Given the description of an element on the screen output the (x, y) to click on. 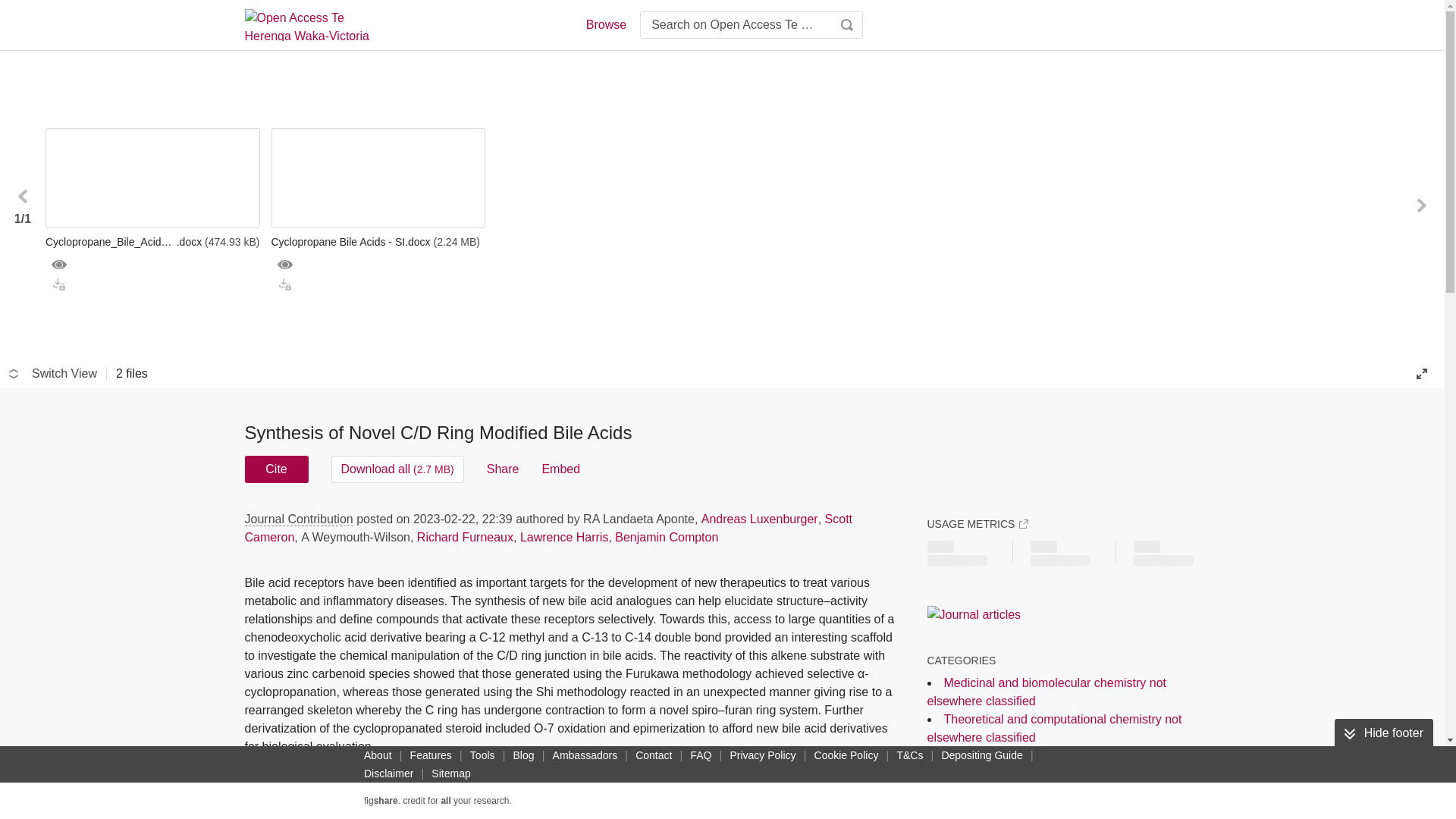
Organic chemistry not elsewhere classified (1058, 755)
Embed (560, 469)
Cyclopropane Bile Acids - SI.docx (378, 241)
Lawrence Harris (563, 536)
Scott Cameron (547, 527)
USAGE METRICS (976, 523)
Richard Furneaux (464, 536)
Switch View (52, 373)
Share (502, 469)
Cite (275, 469)
Benjamin Compton (665, 536)
Andreas Luxenburger (759, 518)
Browse (605, 24)
